Given the description of an element on the screen output the (x, y) to click on. 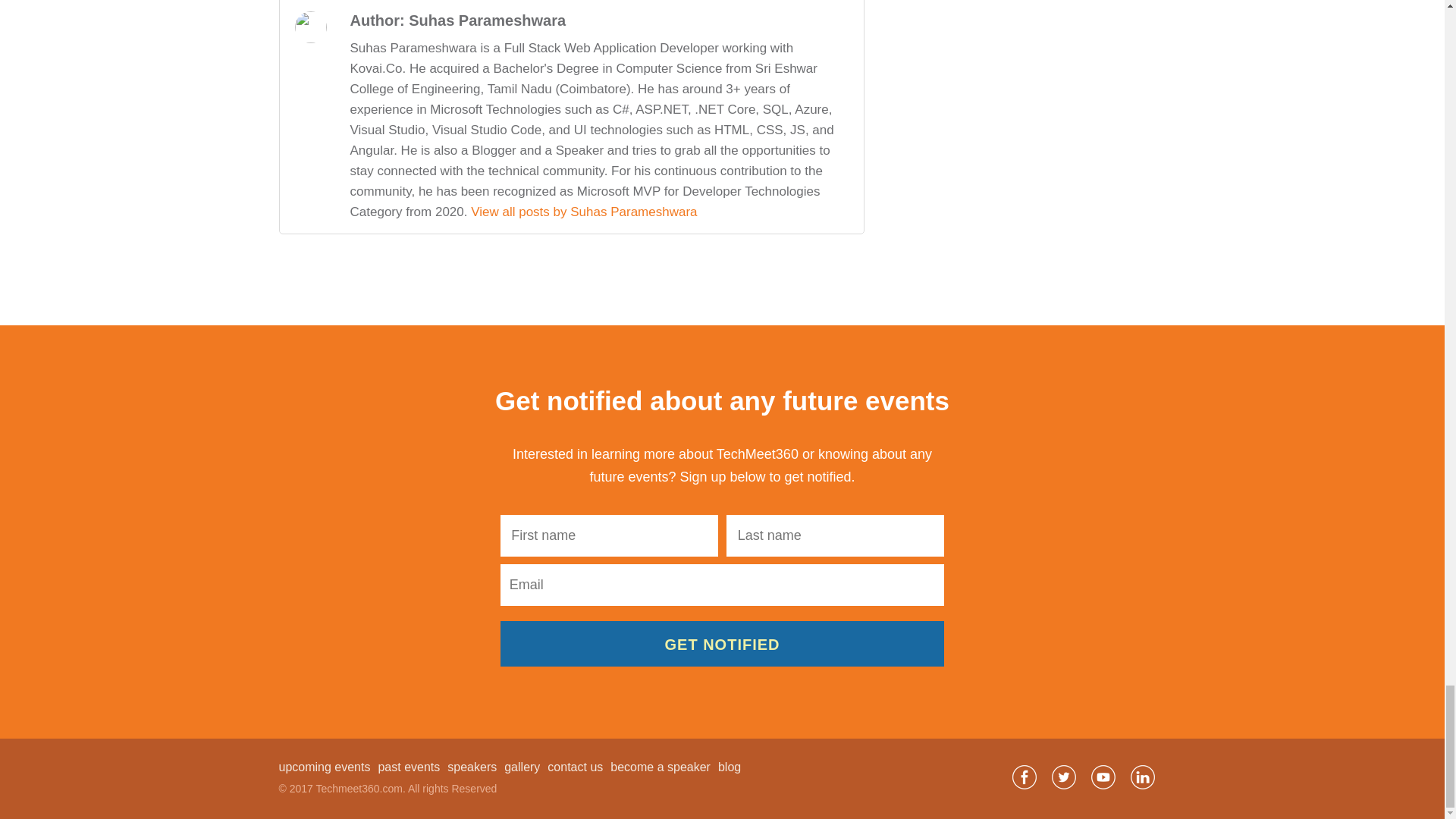
Get notified (721, 643)
View all posts by Suhas Parameshwara (583, 211)
